Given the description of an element on the screen output the (x, y) to click on. 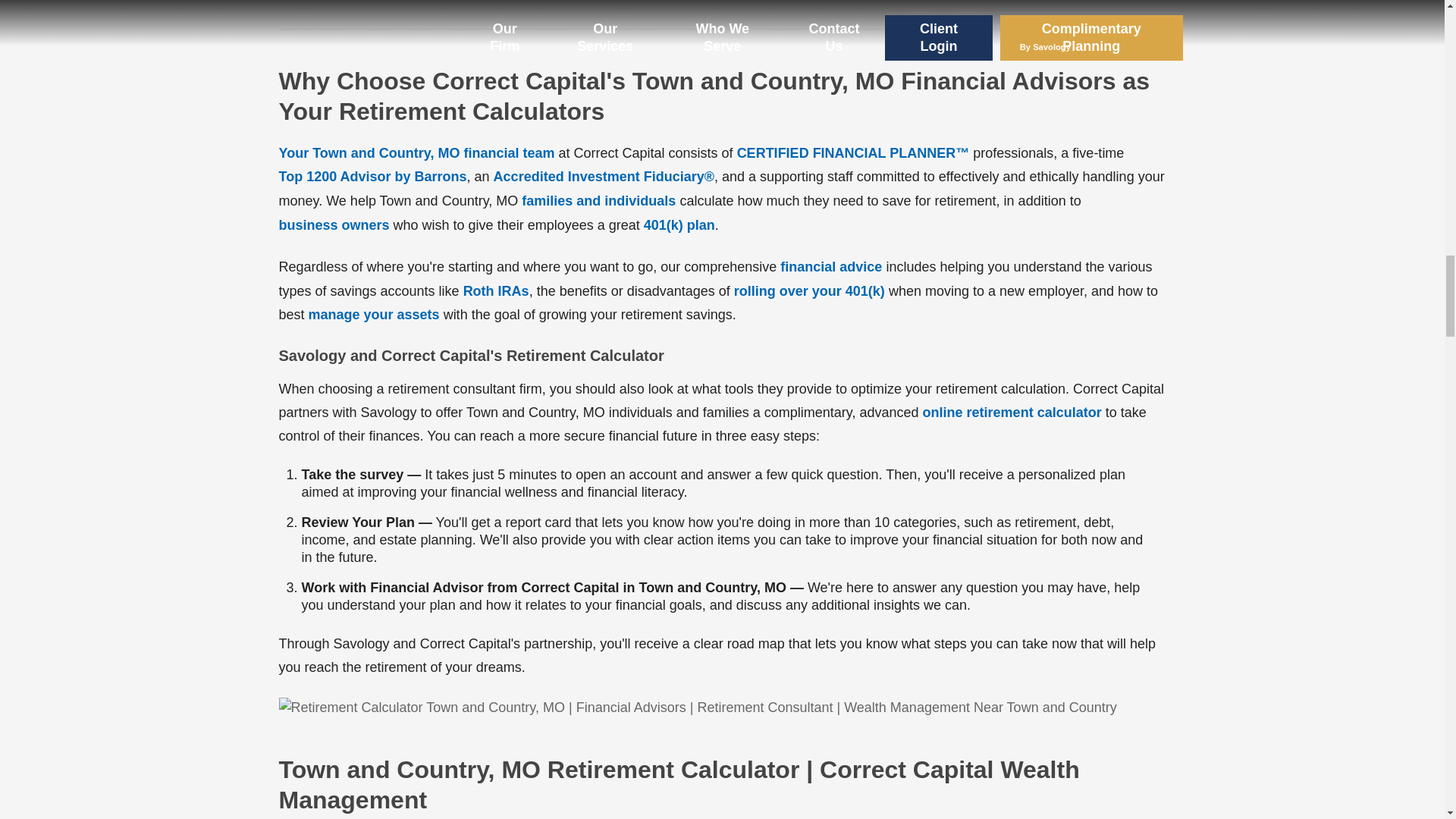
AIF (603, 177)
Savology (1012, 413)
Barrons (373, 177)
CFP (852, 153)
